Given the description of an element on the screen output the (x, y) to click on. 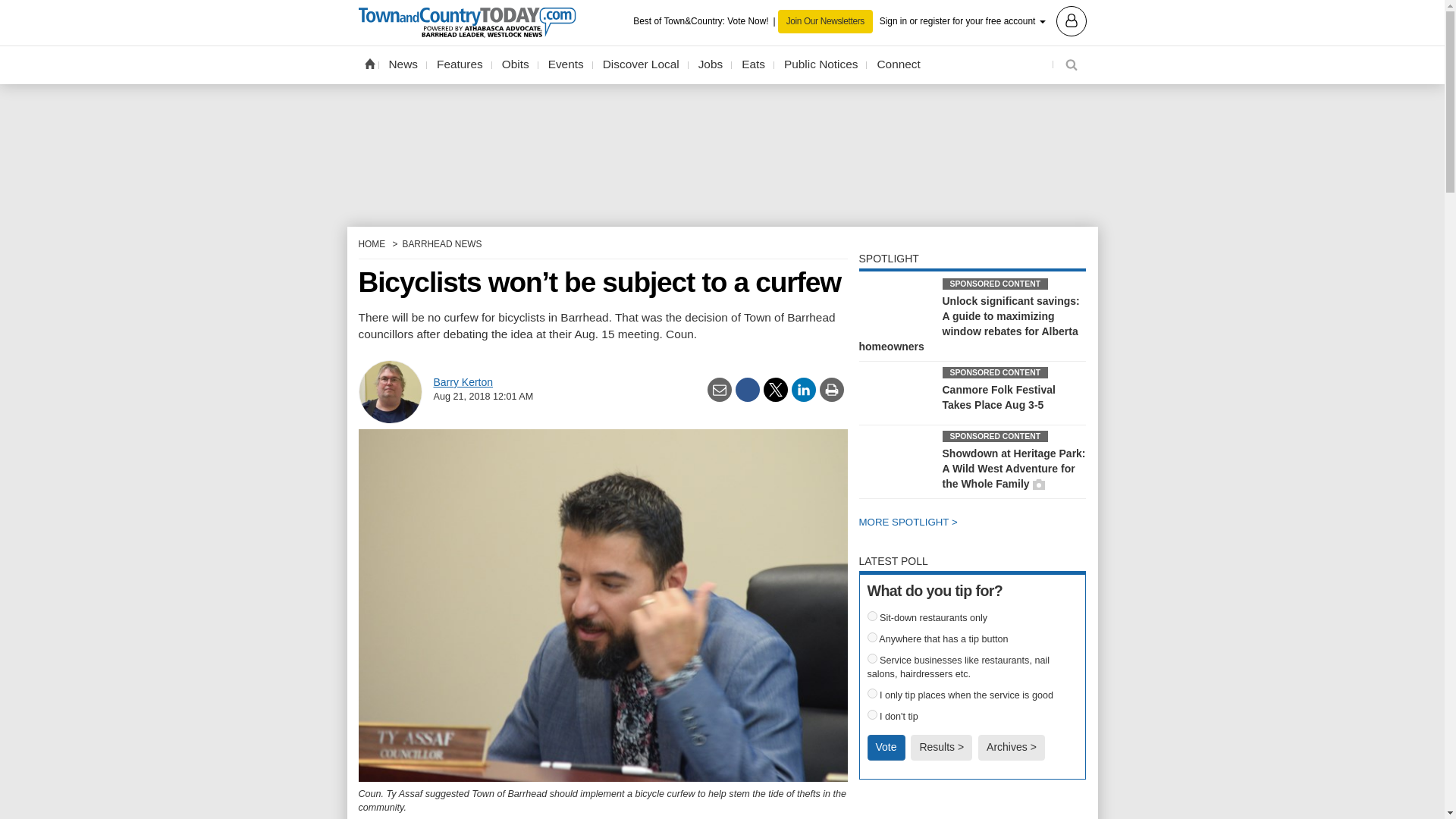
Has a gallery (1038, 484)
123289 (872, 658)
123290 (872, 693)
123288 (872, 637)
123287 (872, 615)
Home (368, 63)
Sign in or register for your free account (982, 20)
123291 (872, 714)
Join Our Newsletters (824, 21)
